Given the description of an element on the screen output the (x, y) to click on. 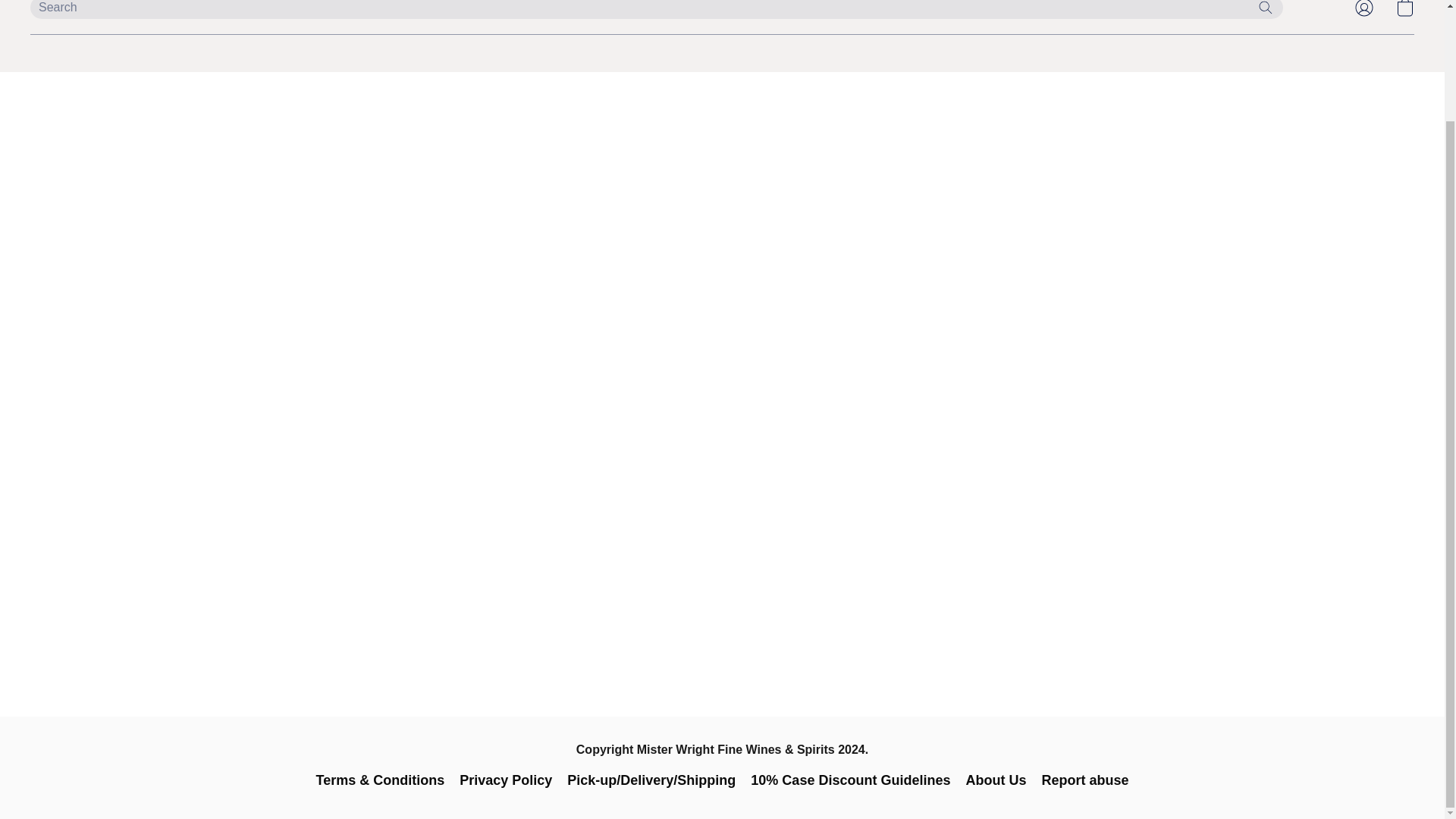
Go to your shopping cart (1404, 12)
Privacy Policy (505, 780)
About Us (995, 780)
Report abuse (1084, 780)
